Given the description of an element on the screen output the (x, y) to click on. 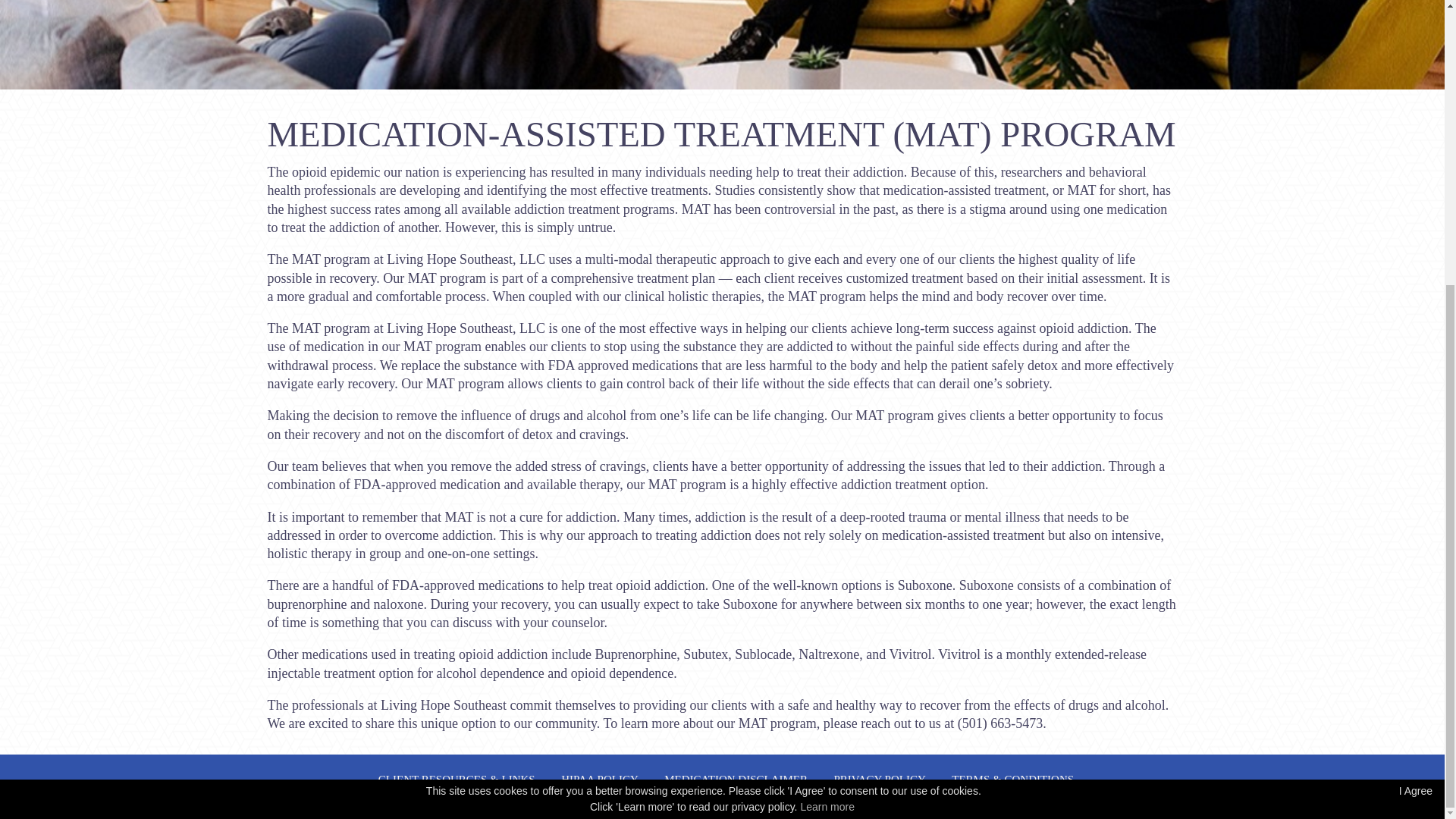
HIPAA POLICY (599, 779)
Learn more (826, 378)
PRIVACY POLICY (880, 779)
MEDICATION DISCLAIMER (735, 779)
